Given the description of an element on the screen output the (x, y) to click on. 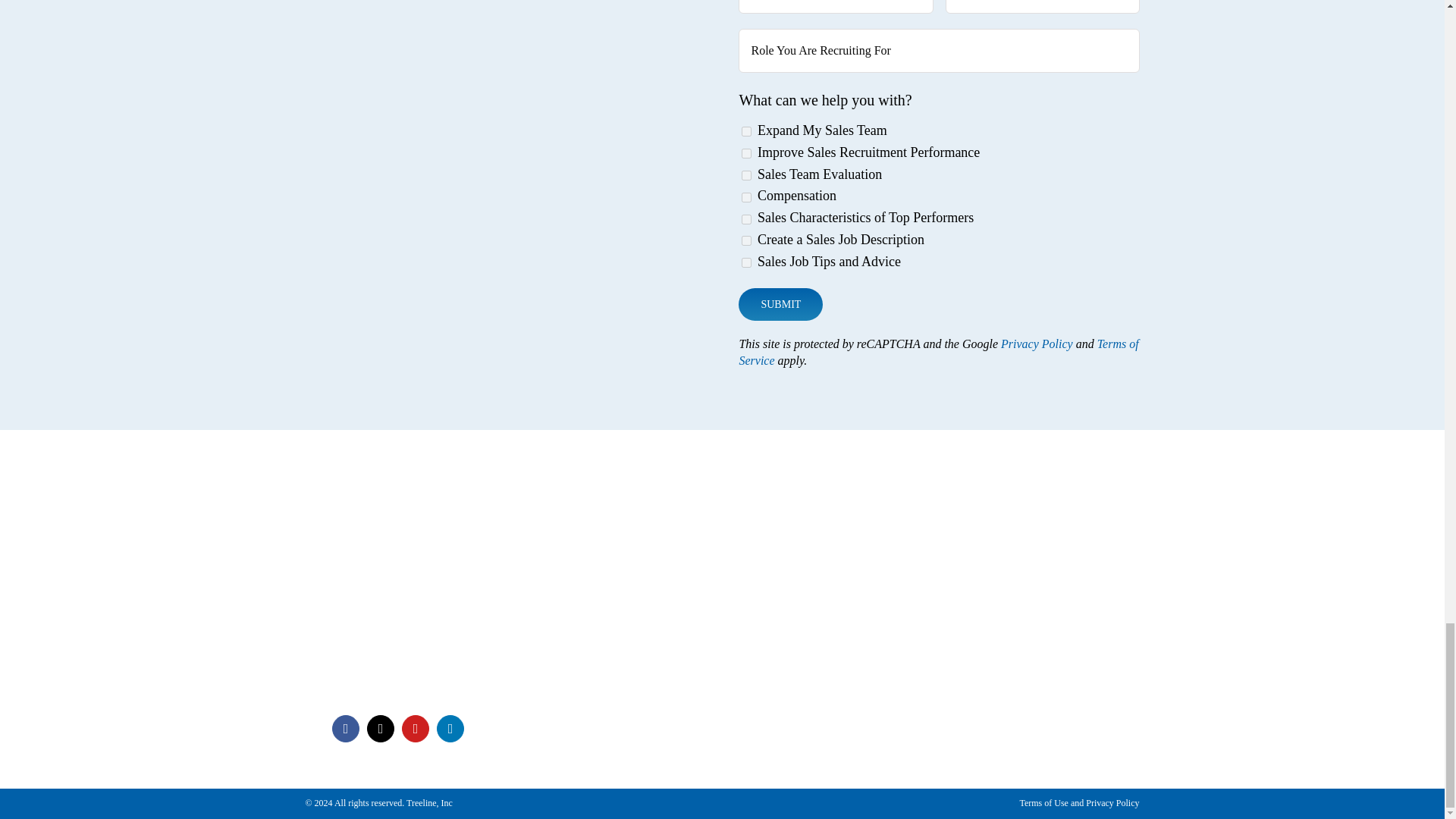
Sales Characteristics of Top Performers (746, 219)
Submit (780, 304)
Compensation (746, 197)
Expand My Sales Team (746, 131)
Create a Sales Job Description (746, 240)
Improve Sales Recruitment Performance (746, 153)
Sales Job Tips and Advice (746, 262)
Sales Team Evaluation (746, 175)
